Given the description of an element on the screen output the (x, y) to click on. 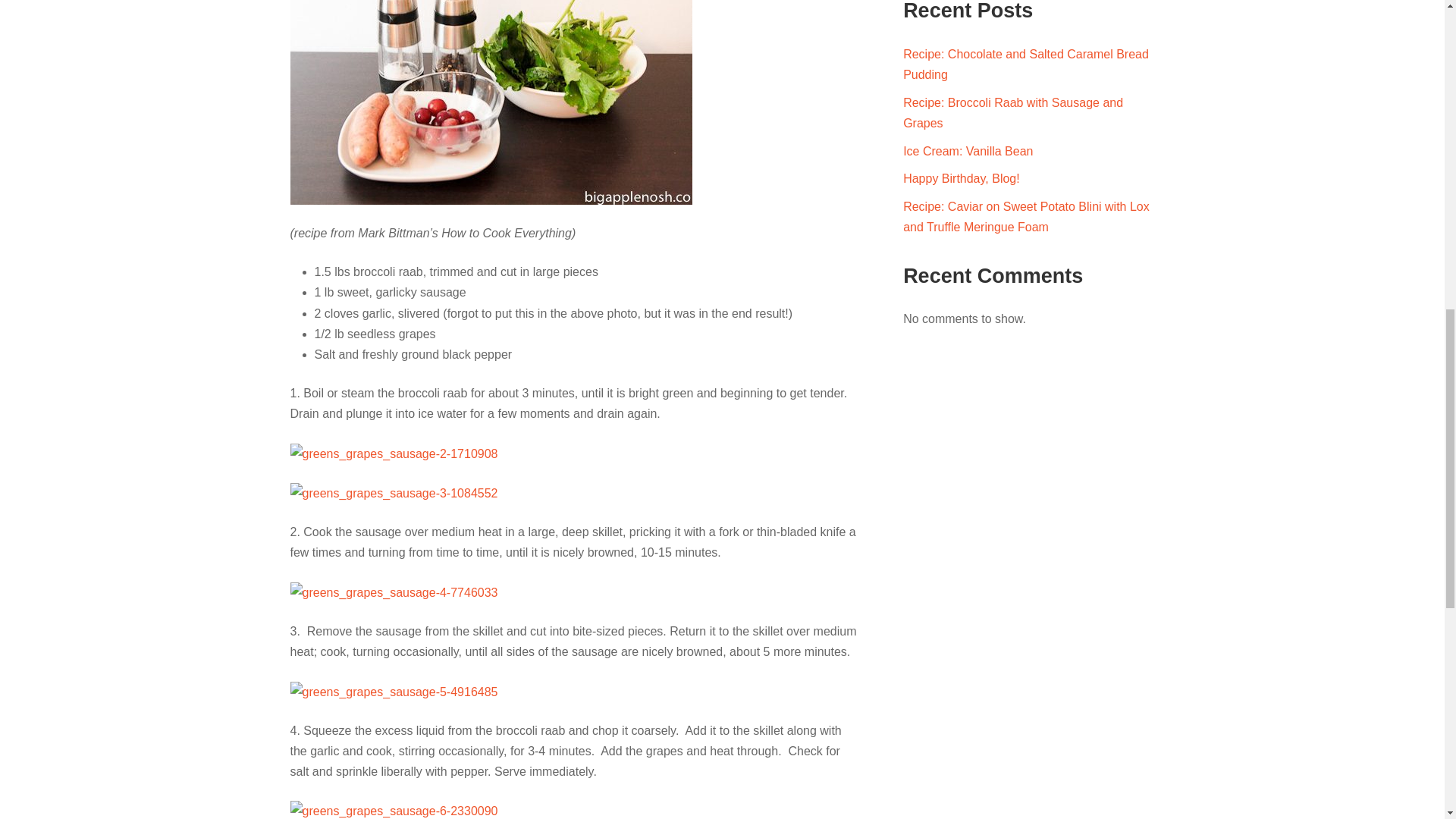
Happy Birthday, Blog! (961, 178)
Recipe: Chocolate and Salted Caramel Bread Pudding (1025, 64)
Ice Cream: Vanilla Bean (967, 151)
Recipe: Broccoli Raab with Sausage and Grapes (1012, 112)
